Given the description of an element on the screen output the (x, y) to click on. 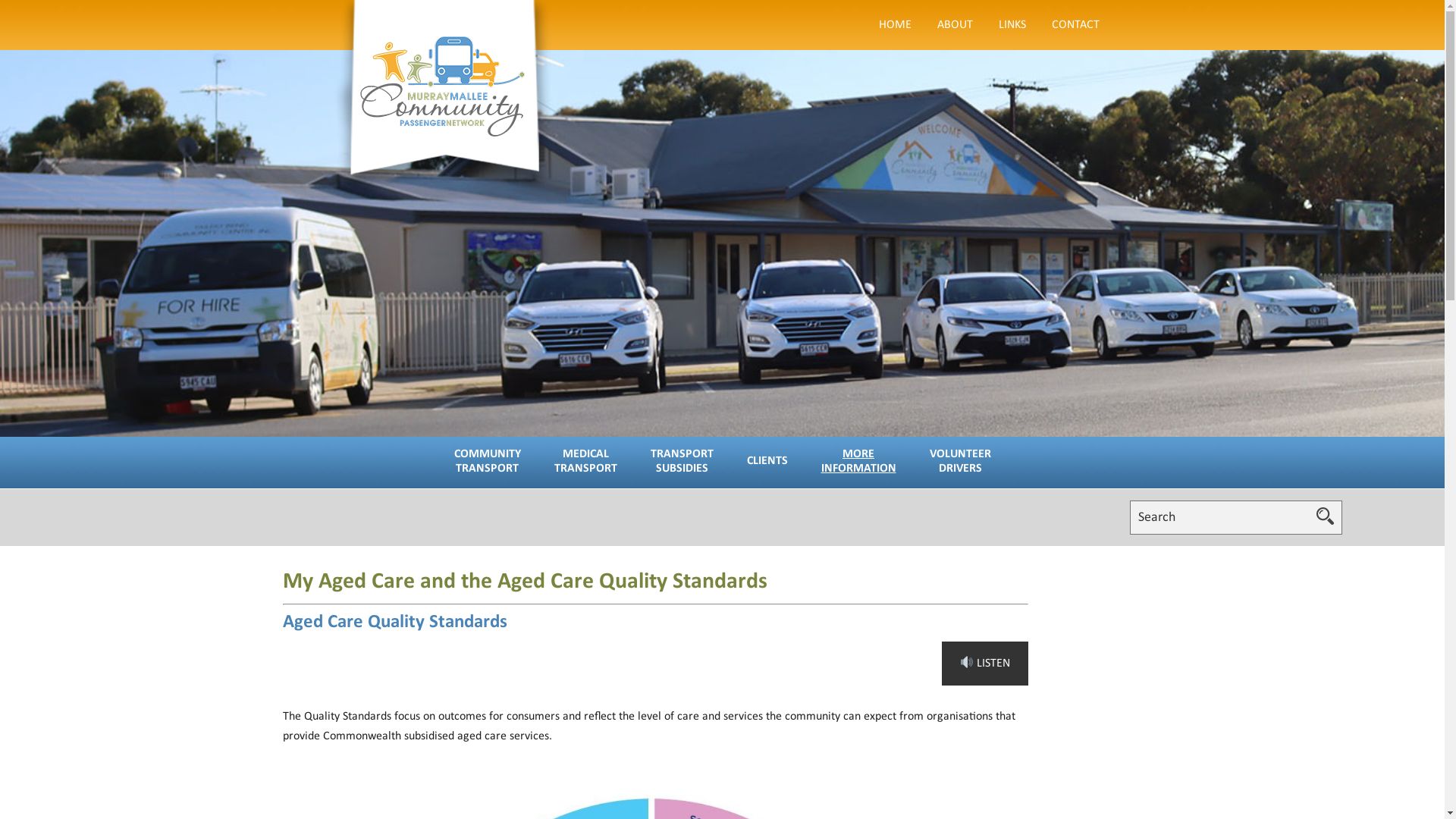
HOME Element type: text (894, 25)
LINKS Element type: text (1012, 25)
Murray Mallee Community Passenger Network Element type: text (442, 97)
MEDICAL
TRANSPORT Element type: text (584, 461)
COMMUNITY
TRANSPORT Element type: text (486, 461)
MORE
INFORMATION Element type: text (857, 461)
ABOUT Element type: text (954, 25)
CLIENTS Element type: text (766, 461)
VOLUNTEER
DRIVERS Element type: text (960, 461)
TRANSPORT
SUBSIDIES Element type: text (681, 461)
Search Element type: text (1325, 515)
LISTEN Element type: text (984, 663)
CONTACT Element type: text (1075, 25)
